Given the description of an element on the screen output the (x, y) to click on. 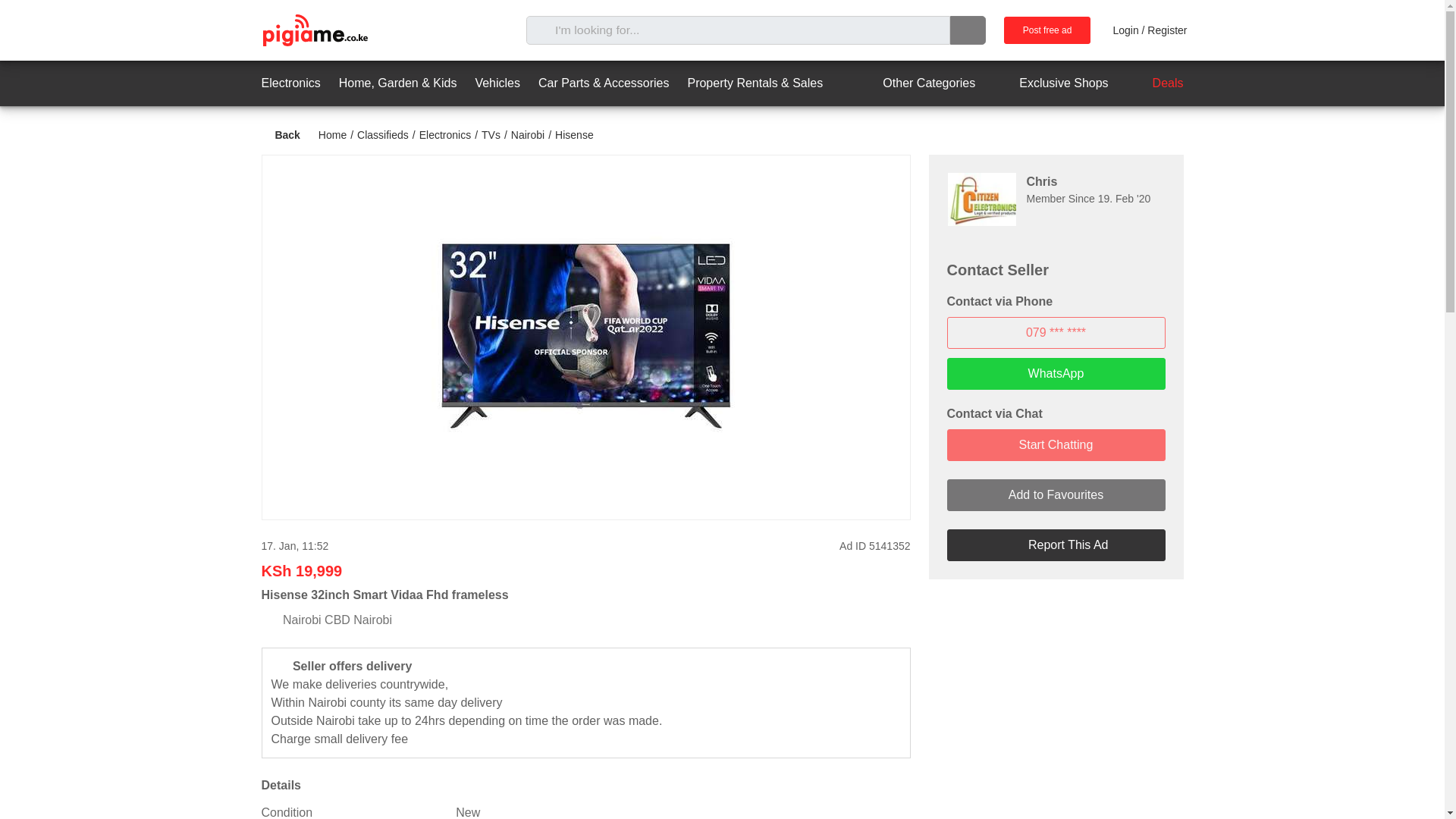
Post free ad (1047, 30)
Hisense (574, 134)
Home (332, 134)
Add to Favourites (1055, 495)
Nairobi (527, 134)
Other Categories (915, 83)
Start Chatting (1055, 445)
WhatsApp (1055, 373)
Electronics (444, 134)
Classifieds (382, 134)
